Given the description of an element on the screen output the (x, y) to click on. 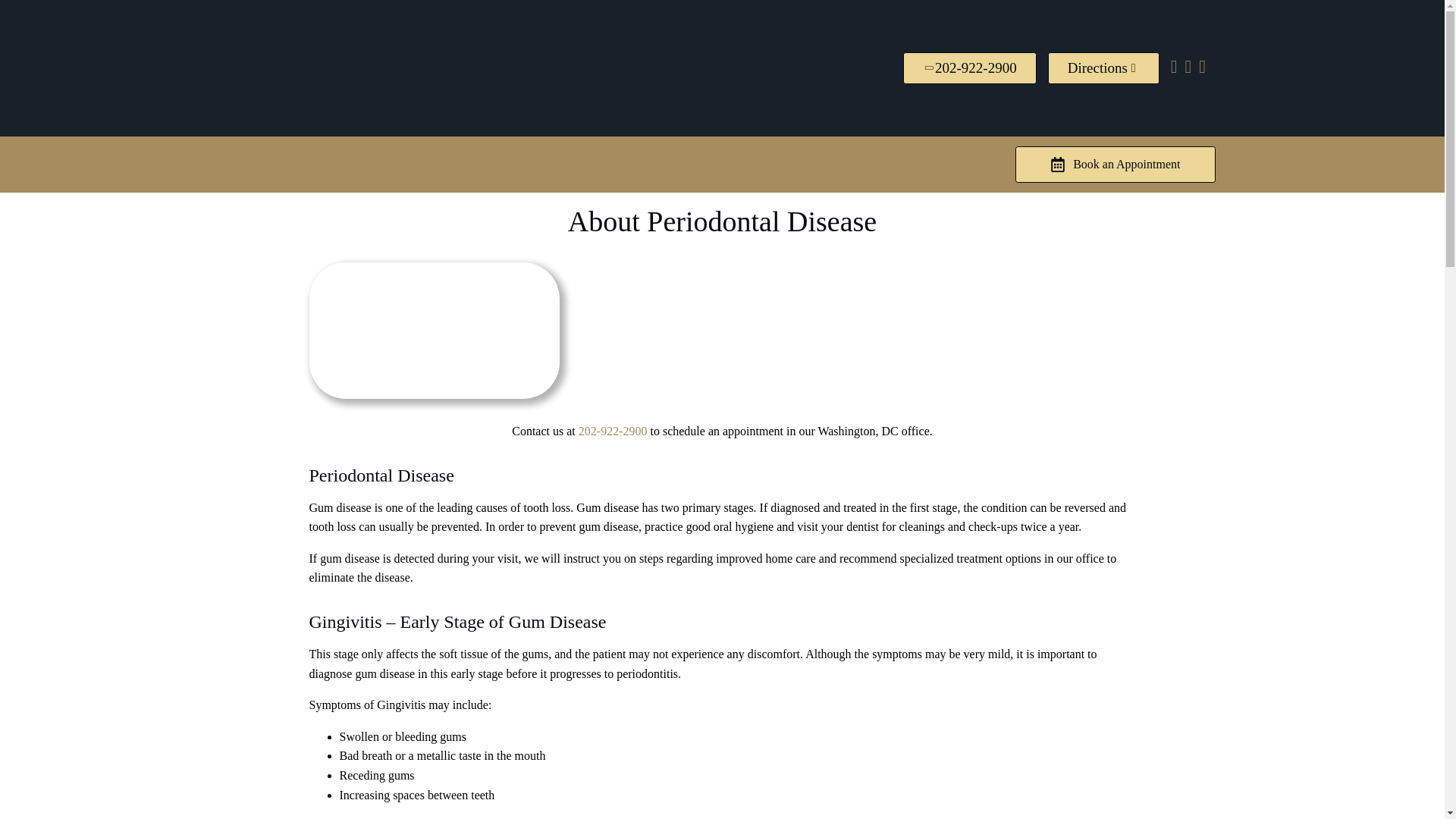
Phone Number (969, 68)
Book an Appointment (1114, 164)
202-922-2900 (969, 68)
Directions (1103, 68)
